Given the description of an element on the screen output the (x, y) to click on. 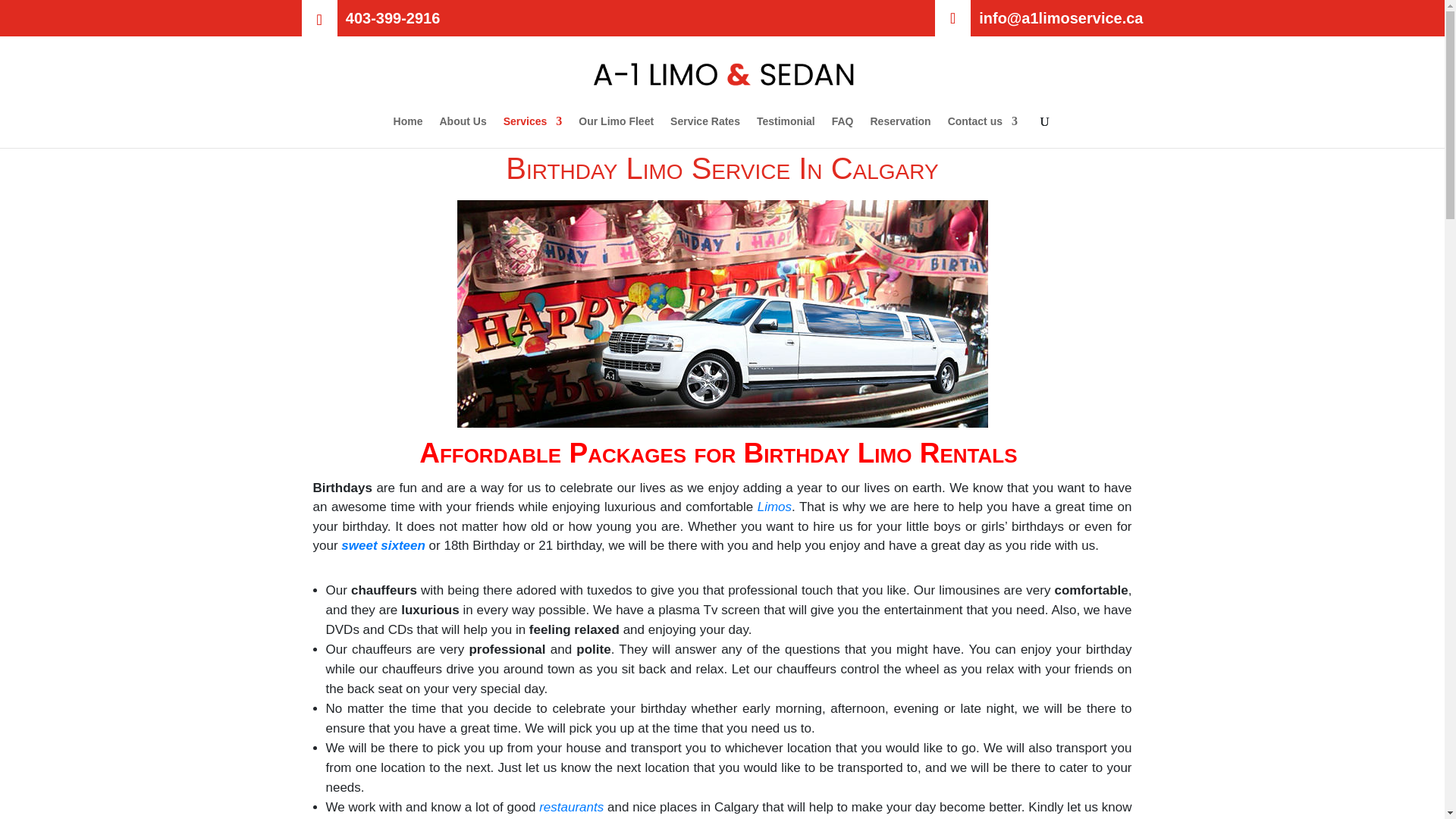
Limos (774, 506)
Home (408, 132)
Our Limo Fleet (615, 132)
Reservation (899, 132)
About Us (462, 132)
Services (532, 132)
sweet sixteen (382, 545)
Service Rates (704, 132)
Contact us (982, 132)
restaurants (571, 807)
